Given the description of an element on the screen output the (x, y) to click on. 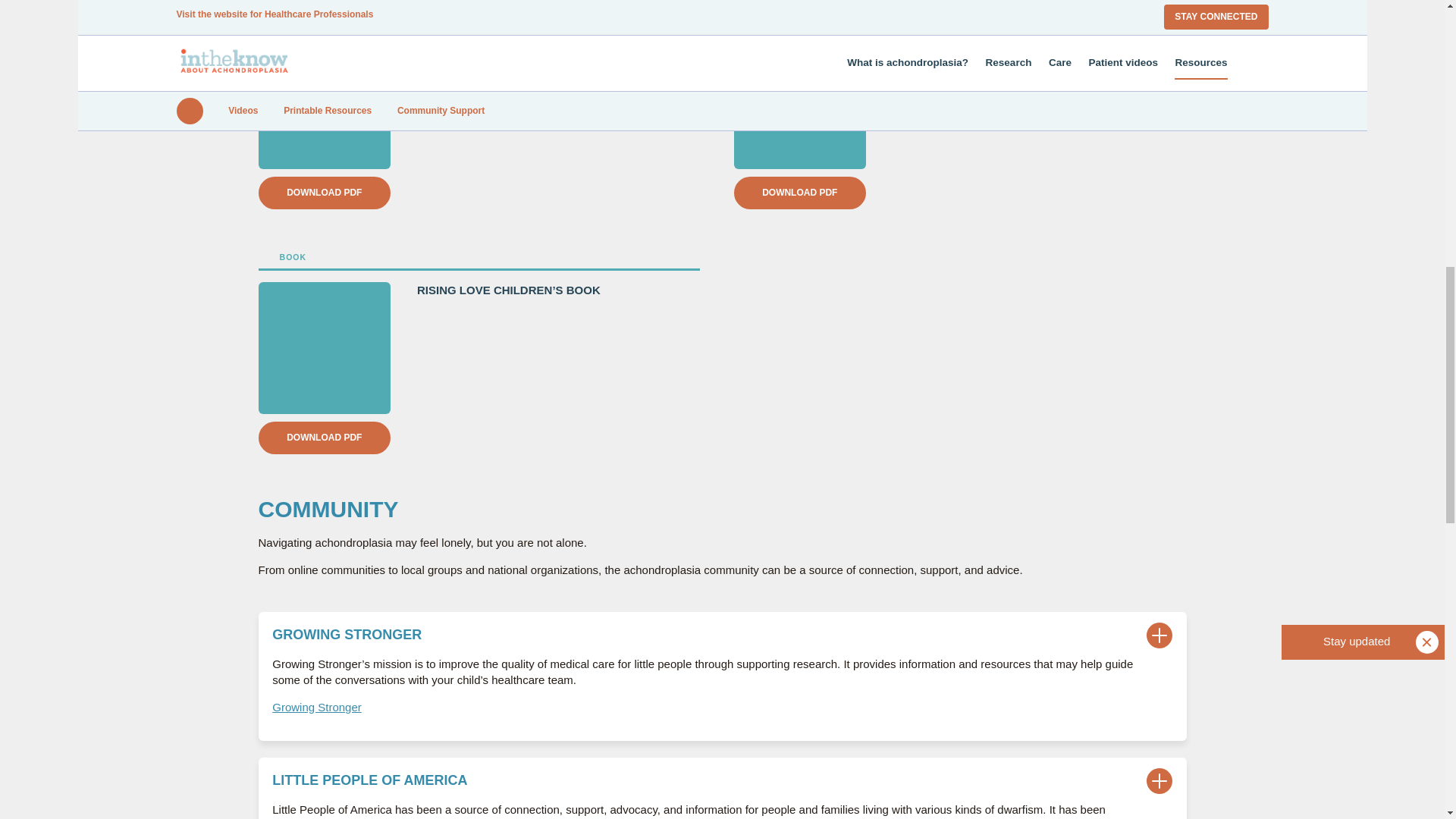
Growing Stronger (316, 707)
DOWNLOAD PDF (799, 192)
DOWNLOAD PDF (323, 437)
DOWNLOAD PDF (323, 192)
